Given the description of an element on the screen output the (x, y) to click on. 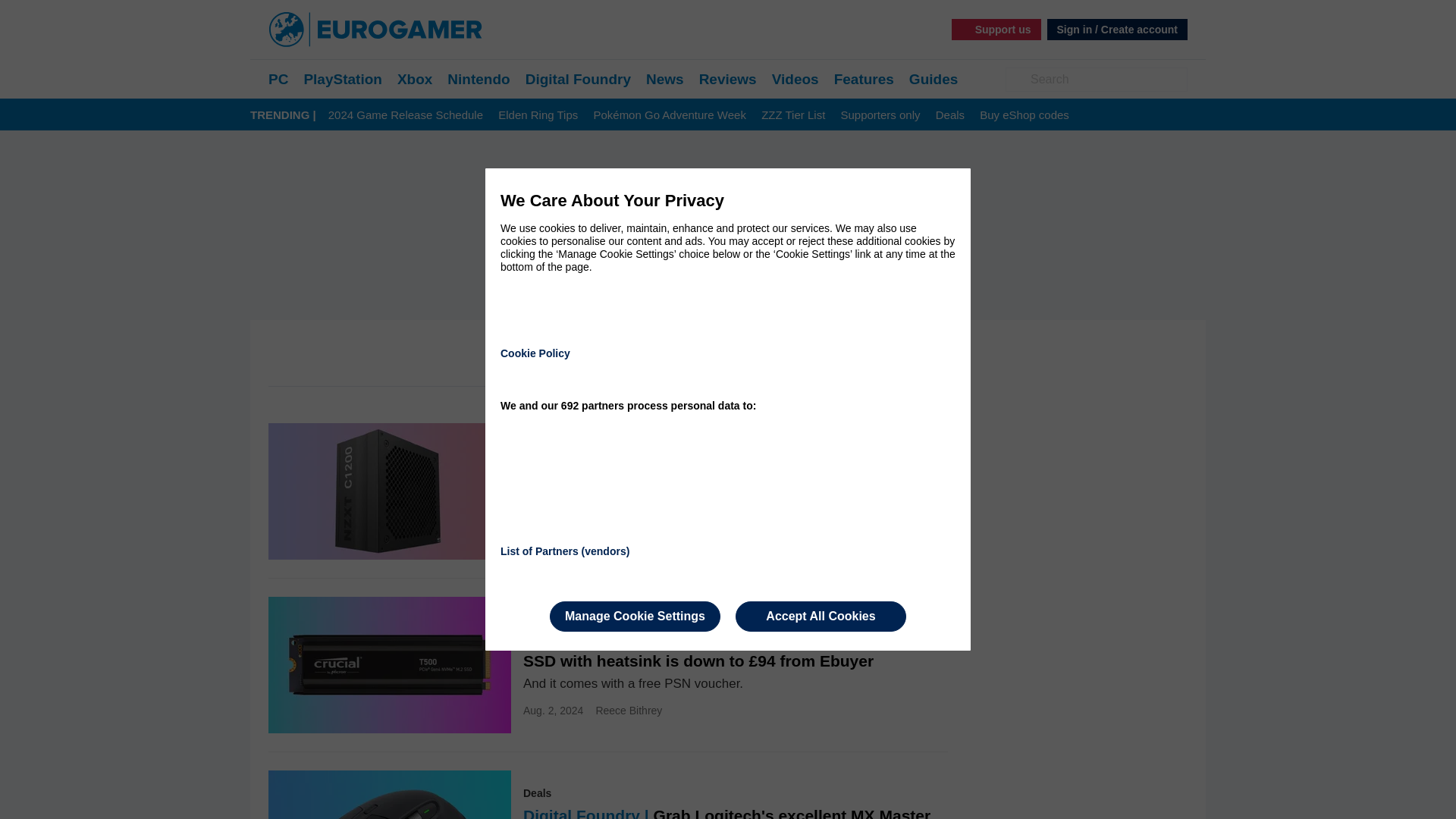
Xbox (414, 78)
Reviews (727, 78)
Videos (794, 78)
ZZZ Tier List (793, 114)
Nintendo (477, 78)
Support us (996, 29)
Deals (949, 114)
Buy eShop codes (1023, 114)
Digital Foundry (577, 78)
Digital Foundry (577, 78)
Supporters only (880, 114)
Elden Ring Tips (537, 114)
Guides (933, 78)
2024 Game Release Schedule (406, 114)
Nintendo (477, 78)
